Given the description of an element on the screen output the (x, y) to click on. 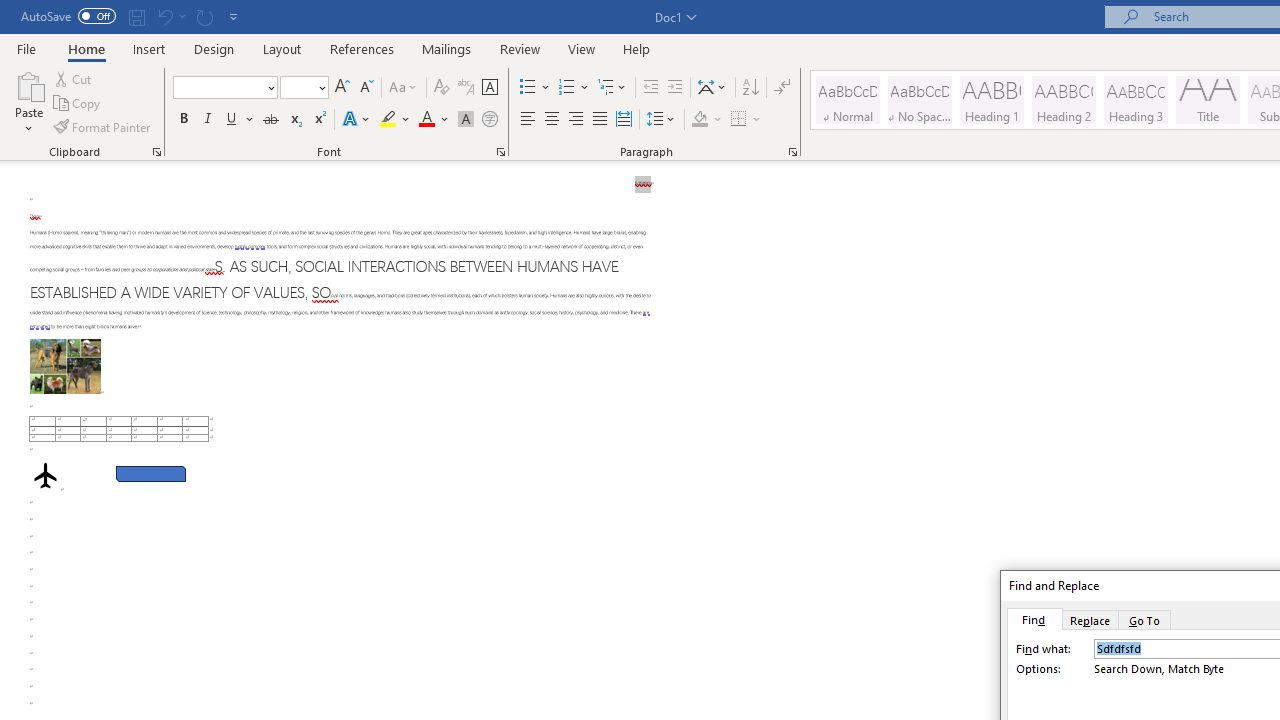
Undo Paragraph Alignment (170, 15)
